Given the description of an element on the screen output the (x, y) to click on. 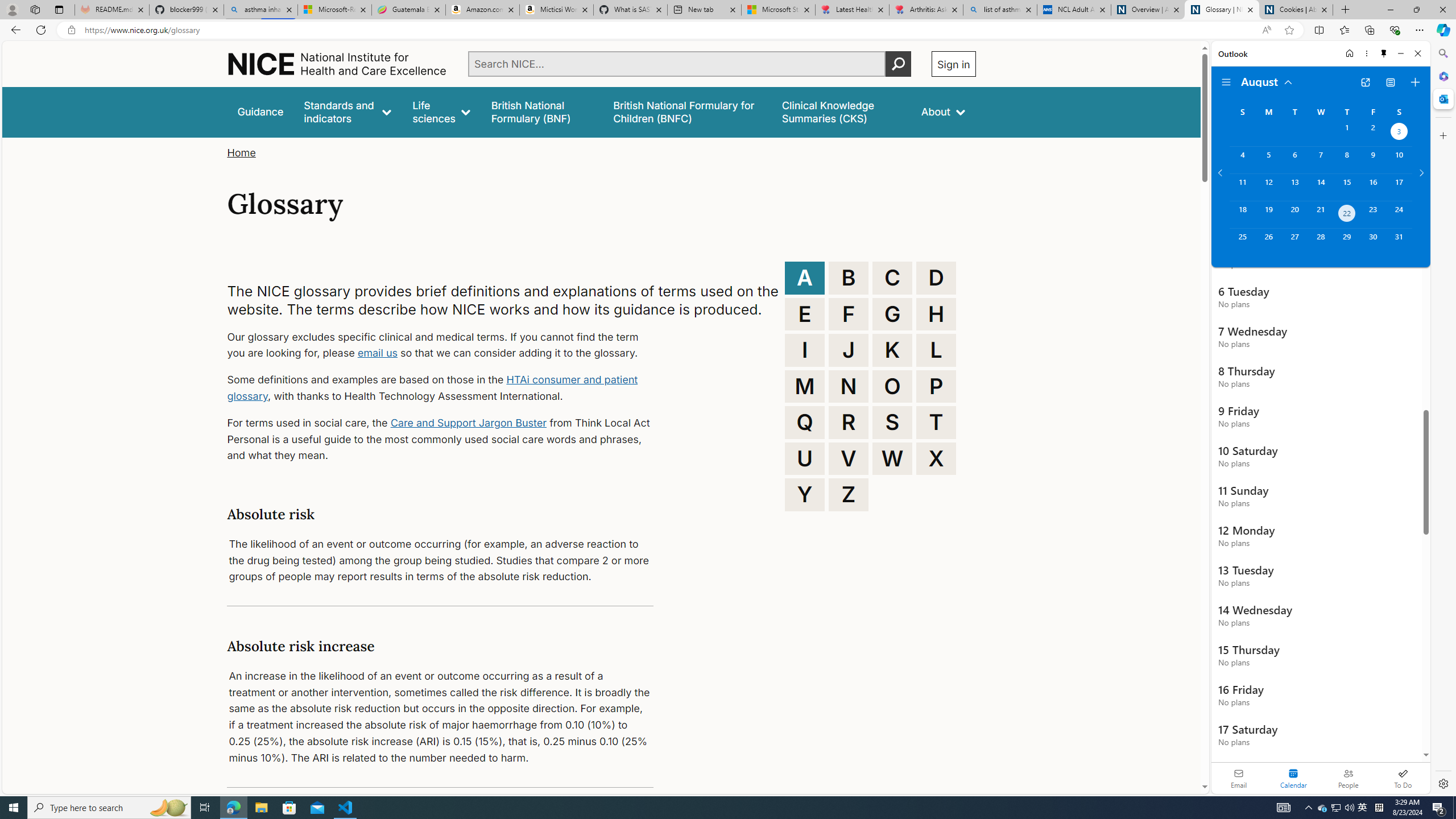
L (935, 350)
Friday, August 2, 2024.  (1372, 132)
S (892, 422)
V (848, 458)
P (935, 385)
Tuesday, August 20, 2024.  (1294, 214)
V (848, 458)
Sunday, August 11, 2024.  (1242, 186)
F (848, 313)
H (935, 313)
Tuesday, August 6, 2024.  (1294, 159)
Monday, August 12, 2024.  (1268, 186)
I (804, 350)
